Given the description of an element on the screen output the (x, y) to click on. 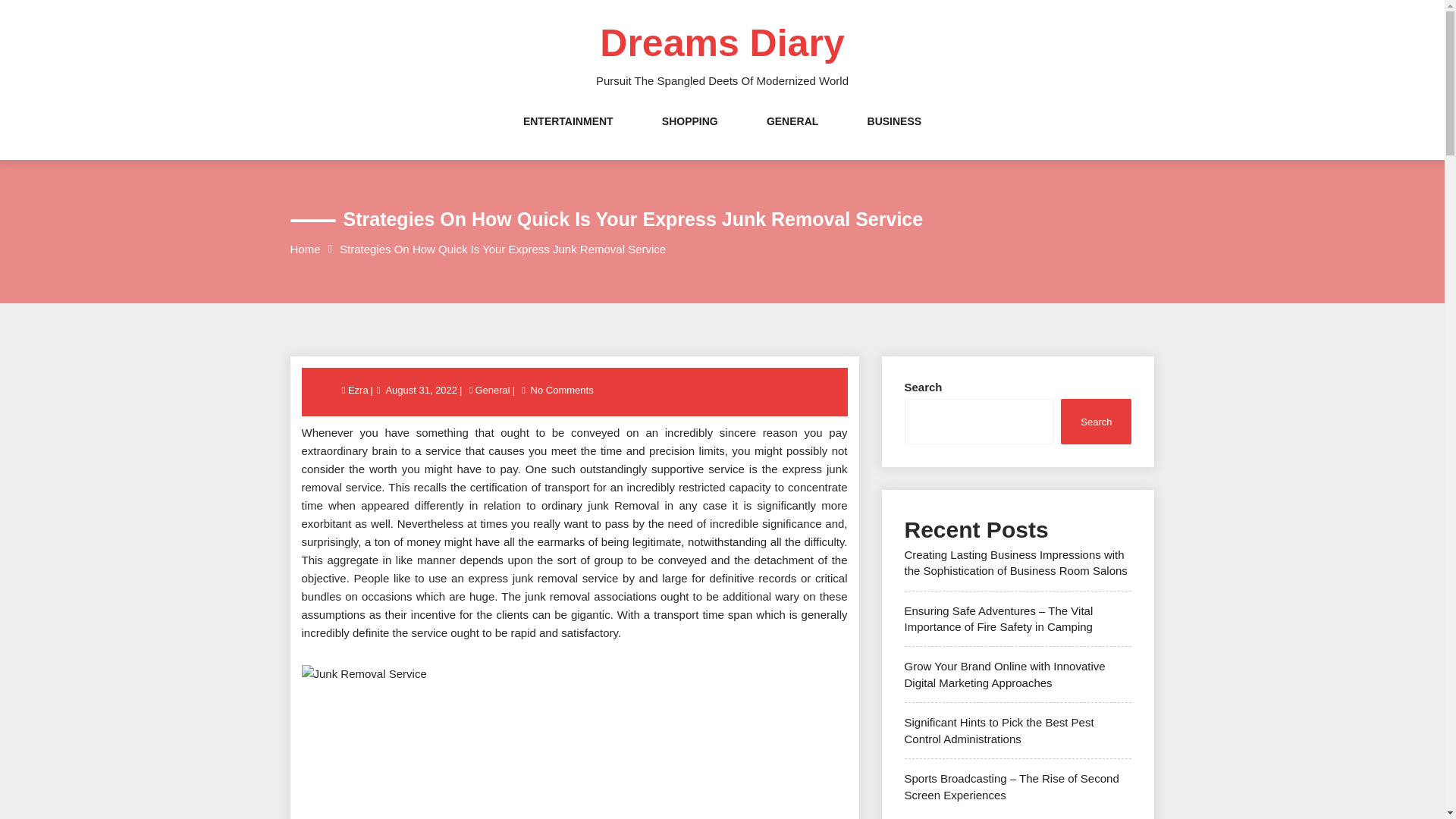
GENERAL (792, 136)
August 31, 2022 (421, 389)
General (491, 389)
ENTERTAINMENT (567, 136)
No Comments (561, 389)
BUSINESS (894, 136)
Search (1096, 420)
Home (304, 248)
Dreams Diary (721, 43)
Ezra (359, 389)
